Given the description of an element on the screen output the (x, y) to click on. 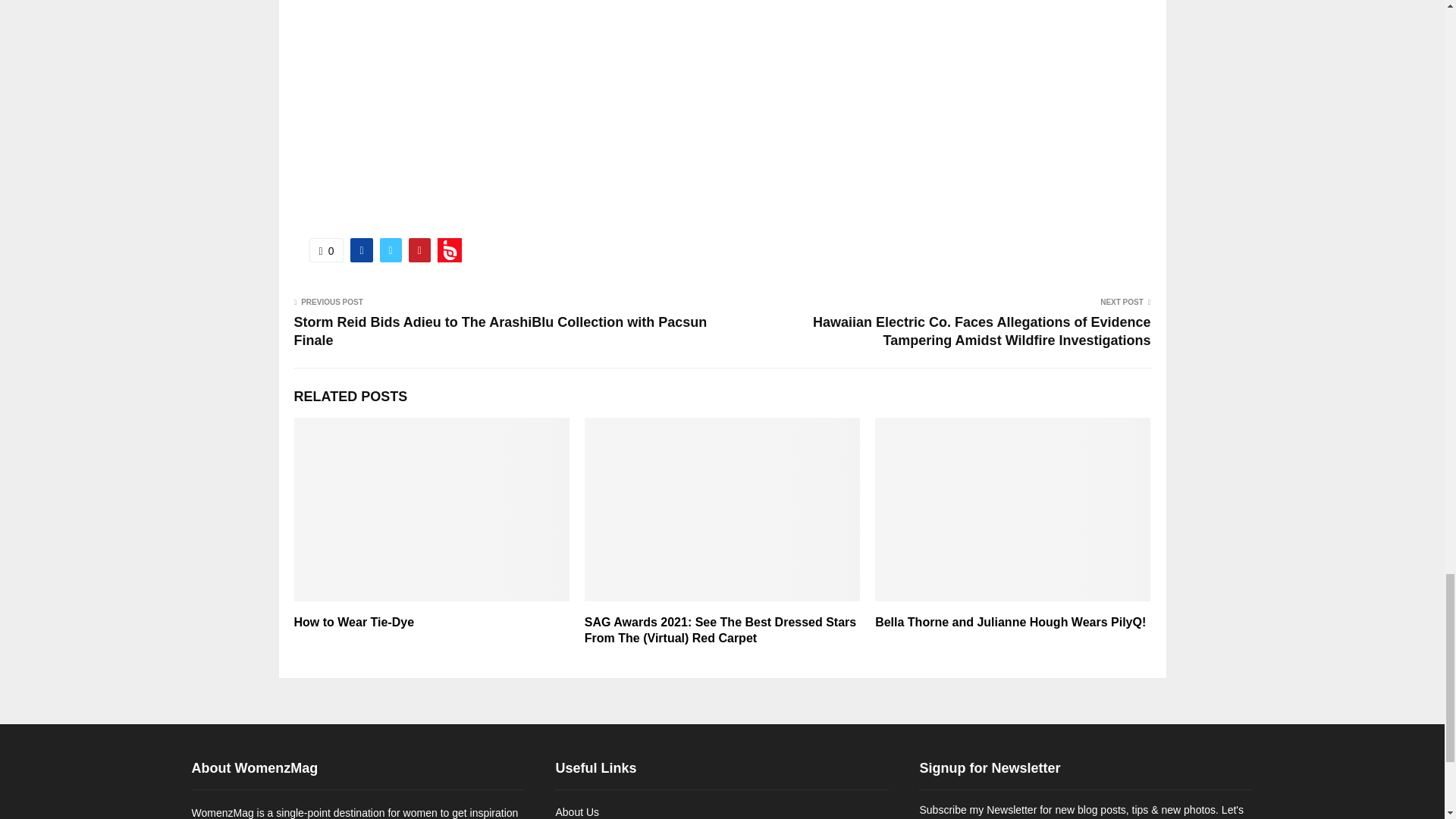
Like (325, 250)
0 (325, 250)
How to Wear Tie-Dye (354, 621)
